Given the description of an element on the screen output the (x, y) to click on. 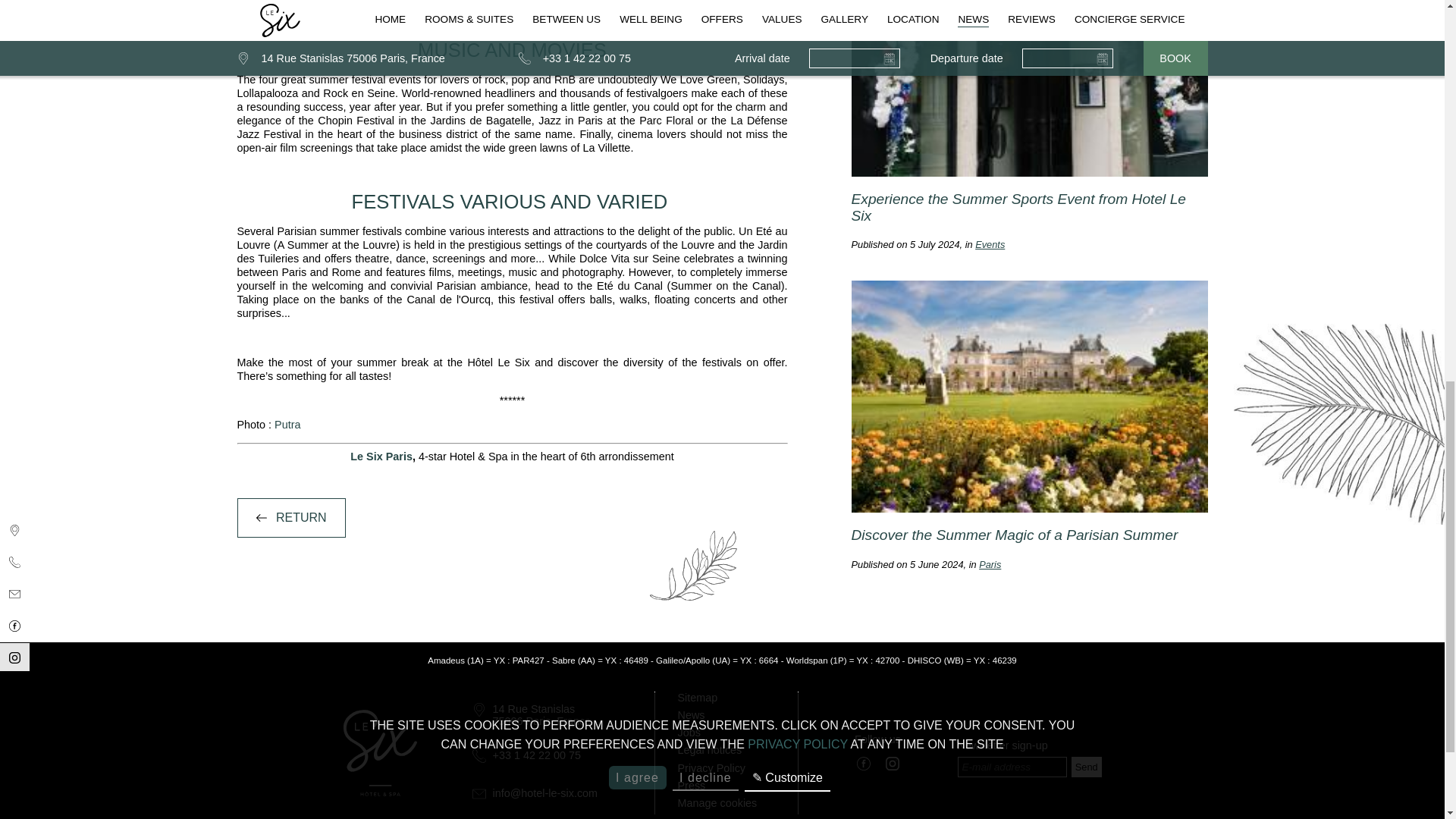
Putra (287, 424)
RETURN (290, 517)
Le Six Paris (381, 456)
Facebook (862, 764)
Instagram (892, 764)
